Given the description of an element on the screen output the (x, y) to click on. 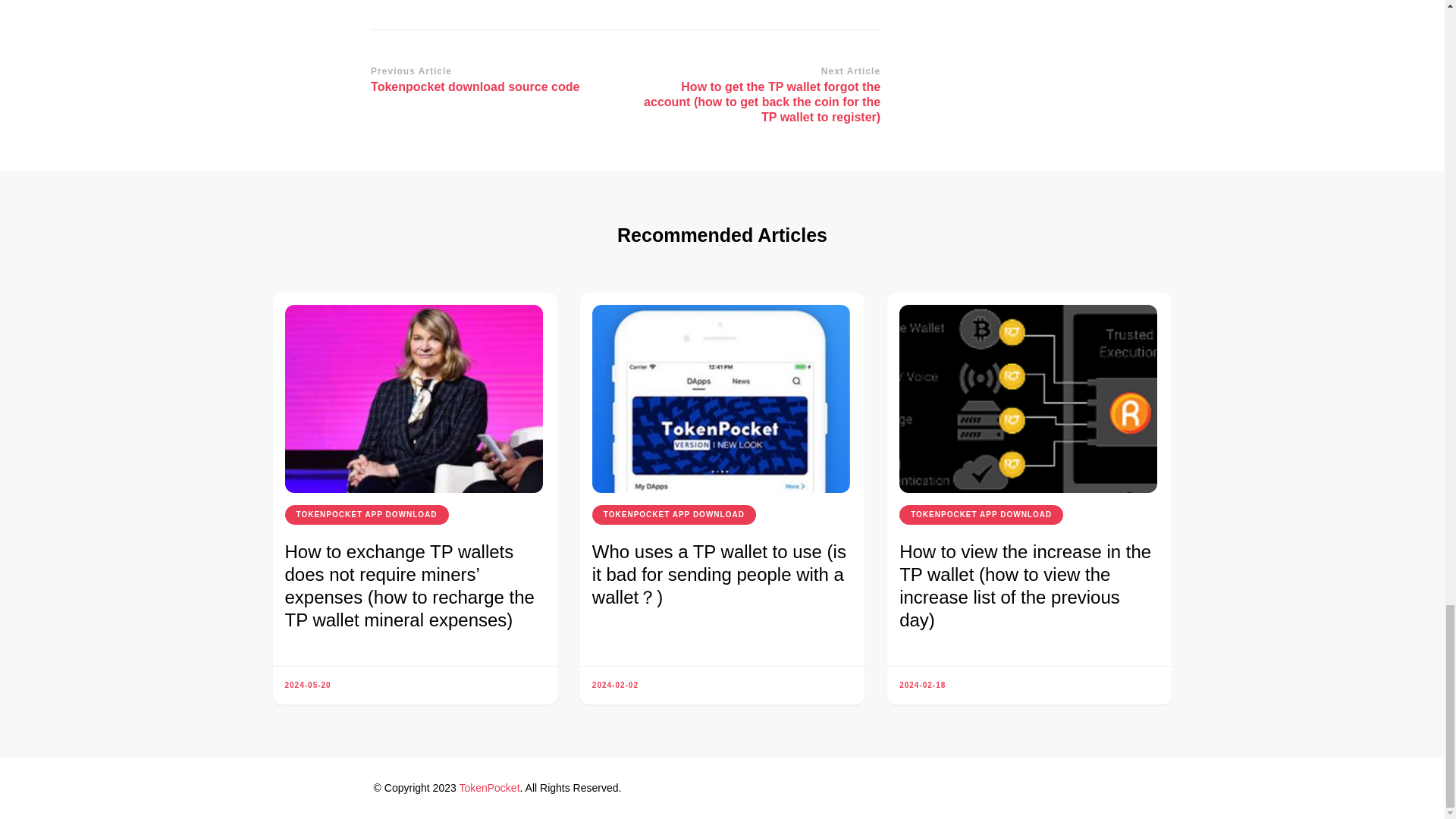
TOKENPOCKET APP DOWNLOAD (366, 514)
